Given the description of an element on the screen output the (x, y) to click on. 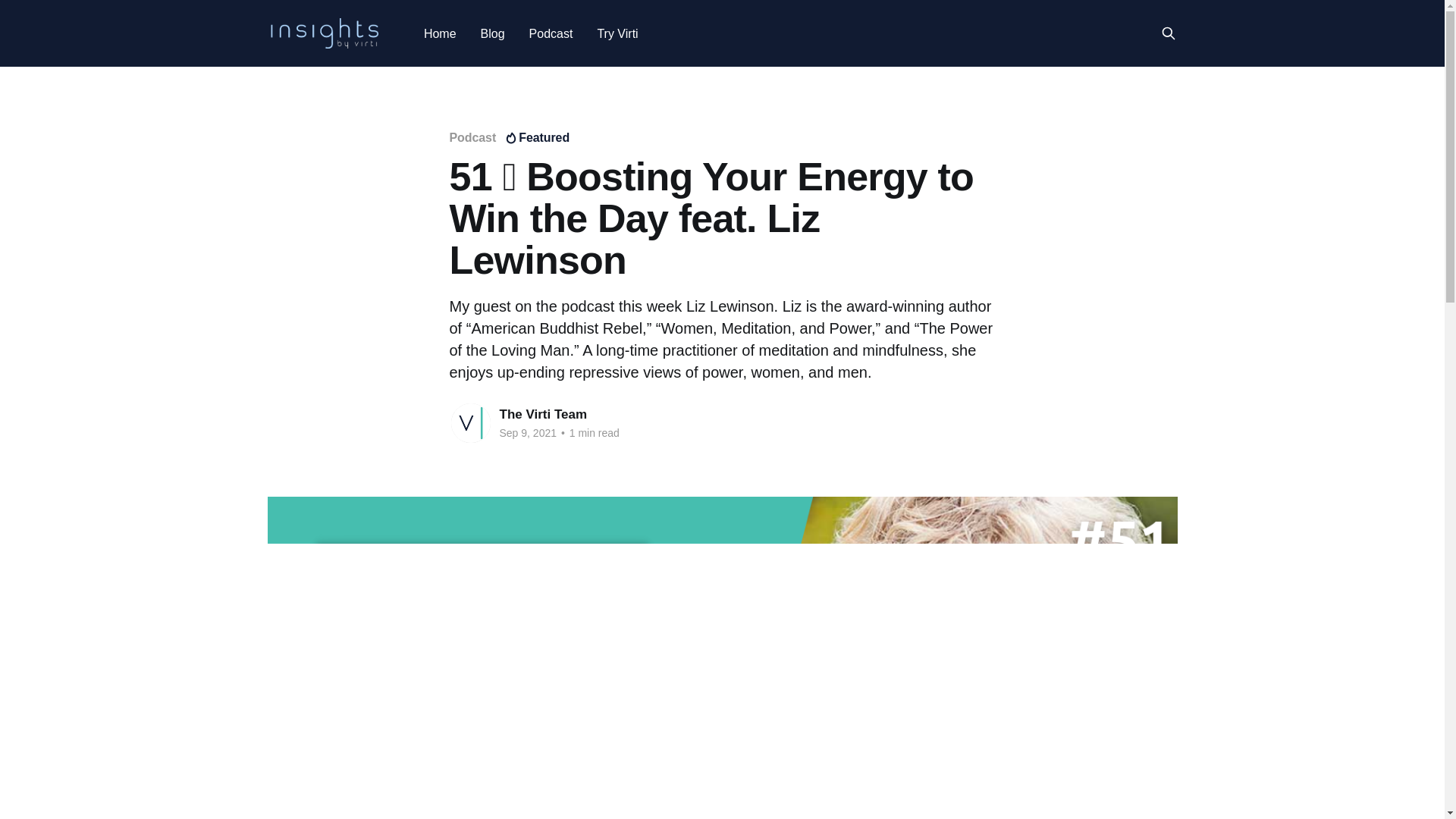
The Virti Team (542, 414)
Podcast (551, 33)
Home (440, 33)
Blog (492, 33)
Try Virti (616, 33)
Podcast (472, 137)
